Given the description of an element on the screen output the (x, y) to click on. 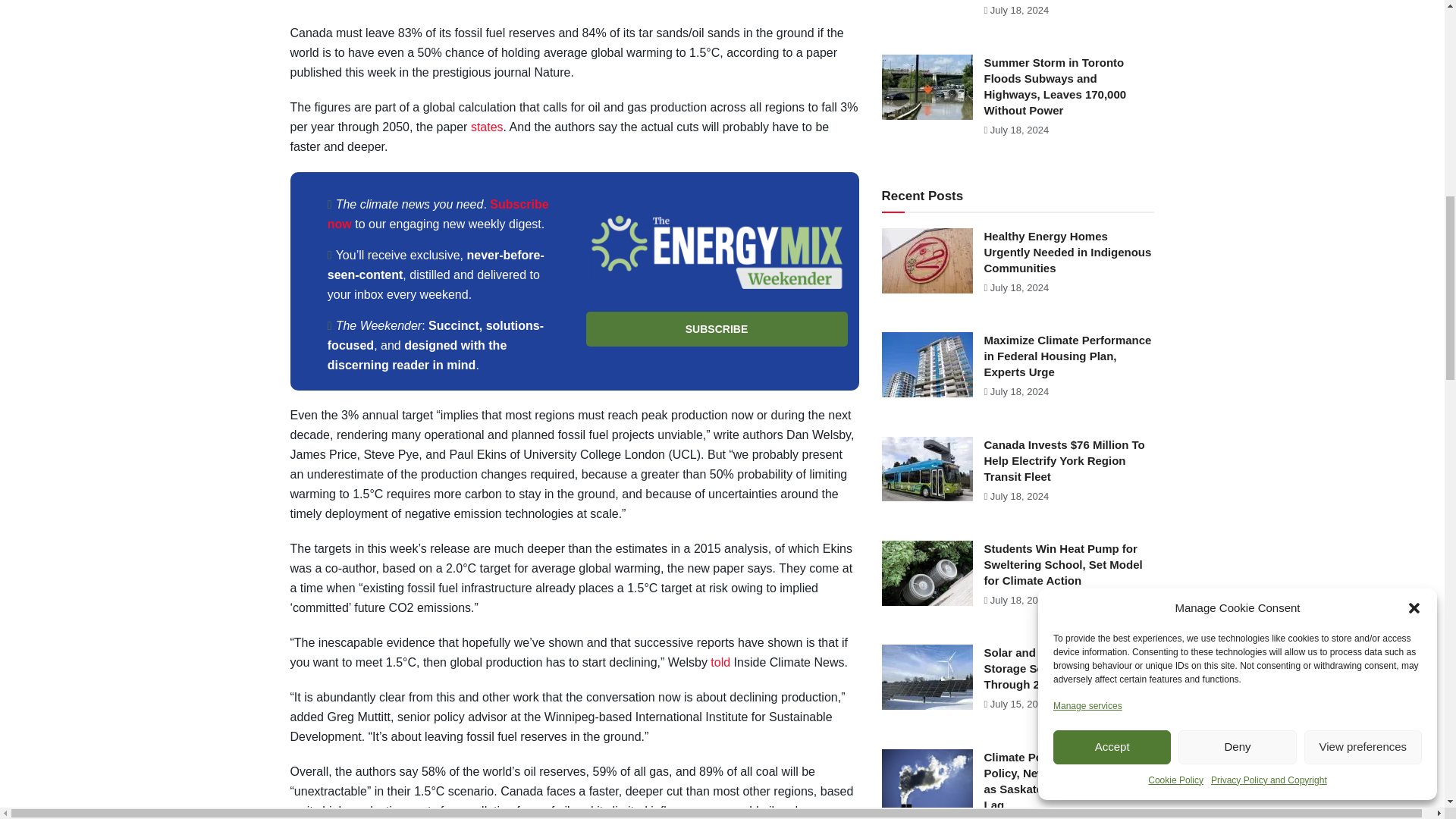
Subscribe (716, 328)
TEM-WeekenderLight (716, 252)
